Given the description of an element on the screen output the (x, y) to click on. 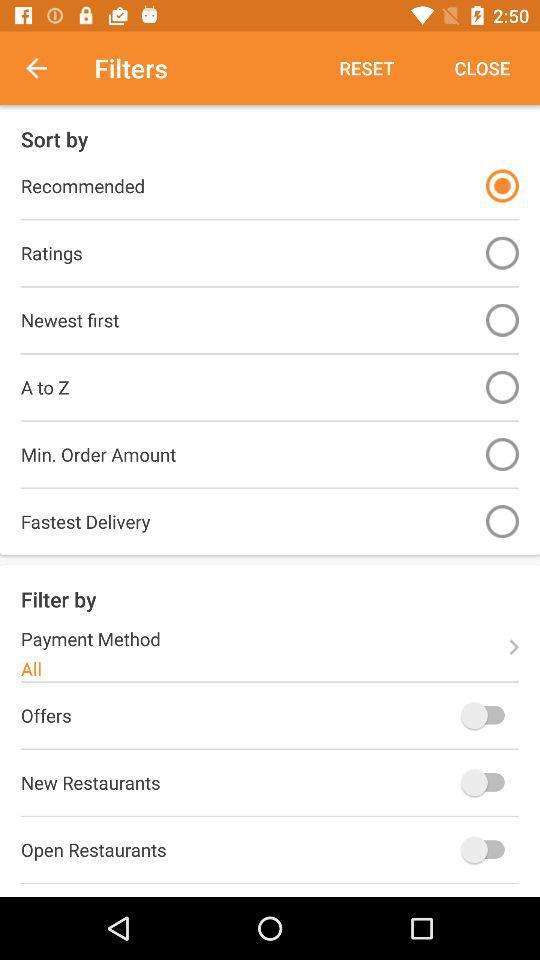
choose the icon to the right of the a to z icon (502, 386)
